Given the description of an element on the screen output the (x, y) to click on. 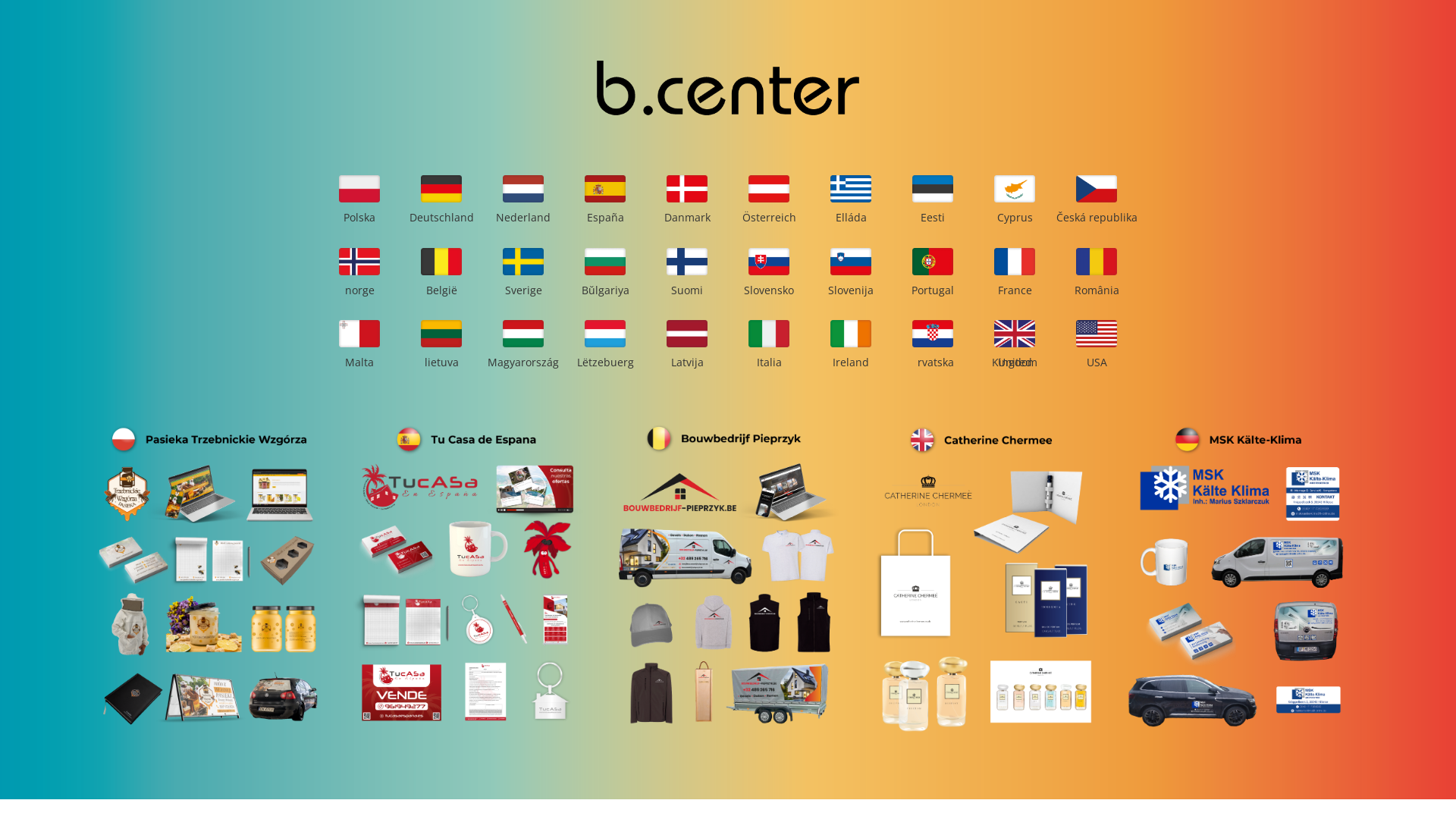
Slovensko Element type: text (768, 289)
Malta Element type: text (359, 361)
catherine_chermee_4 Element type: hover (981, 577)
France Element type: text (1014, 289)
United Kingdom Element type: text (1014, 361)
trzebnickie_wzgorza_pasieka_1 Element type: hover (209, 577)
Portugal Element type: text (932, 289)
Polska Element type: text (359, 217)
Suomi Element type: text (686, 289)
Slovenija Element type: text (850, 289)
bouwbedrijf_pieprzyk_3 Element type: hover (723, 577)
lietuva Element type: text (441, 361)
Sverige Element type: text (523, 289)
norge Element type: text (358, 289)
USA Element type: text (1095, 361)
Ireland Element type: text (850, 361)
Latvija Element type: text (686, 361)
Cyprus Element type: text (1014, 217)
tucasa_2 Element type: hover (466, 577)
Italia Element type: text (768, 361)
Deutschland Element type: text (441, 217)
Danmark Element type: text (687, 217)
Nederland Element type: text (522, 217)
msk_kalte_klima_5 Element type: hover (1238, 577)
Eesti Element type: text (932, 217)
